Given the description of an element on the screen output the (x, y) to click on. 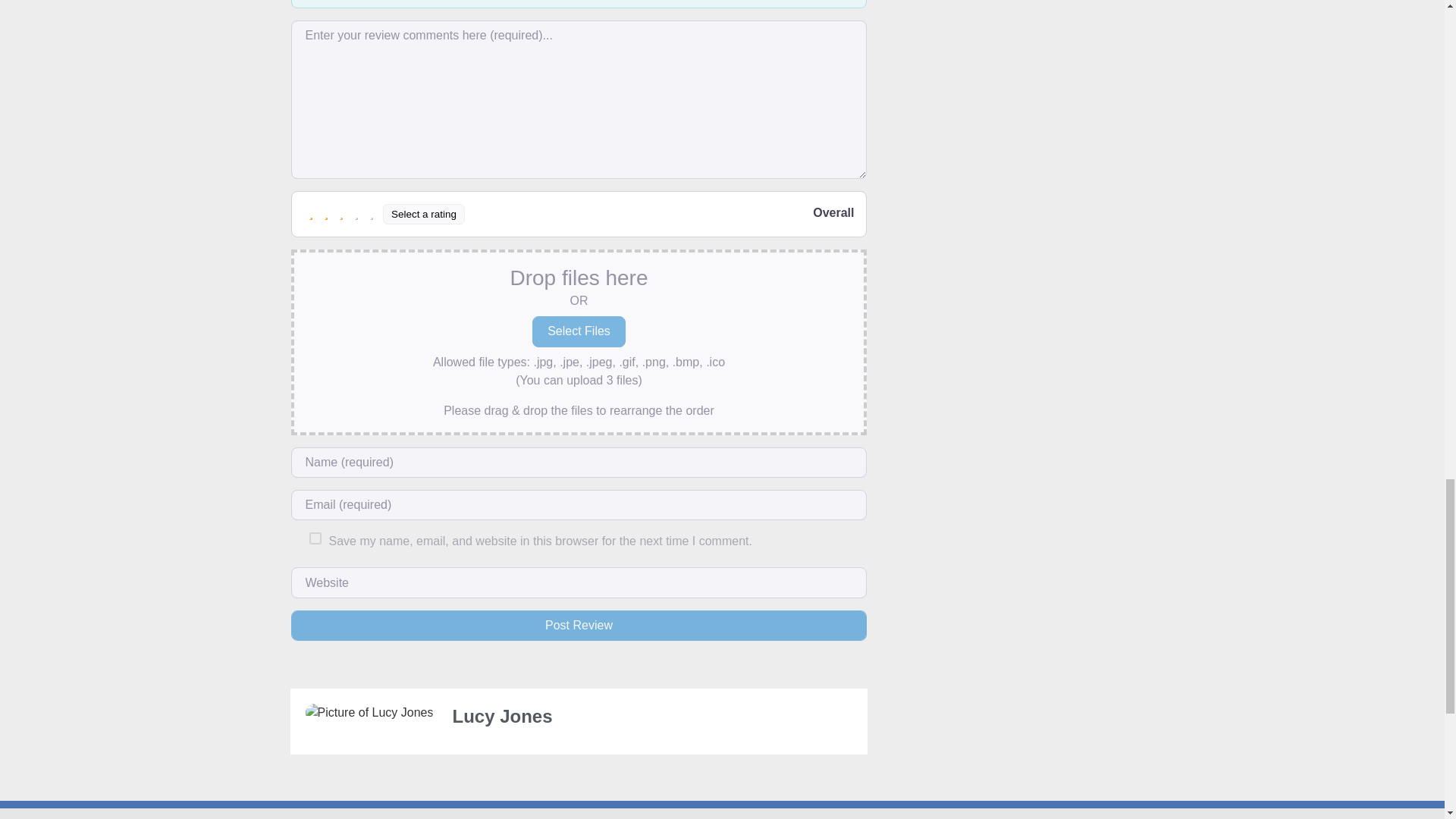
Poor (325, 214)
Select Files (579, 331)
Average (341, 214)
Post Review (579, 625)
Terrible (310, 214)
yes (314, 538)
